Given the description of an element on the screen output the (x, y) to click on. 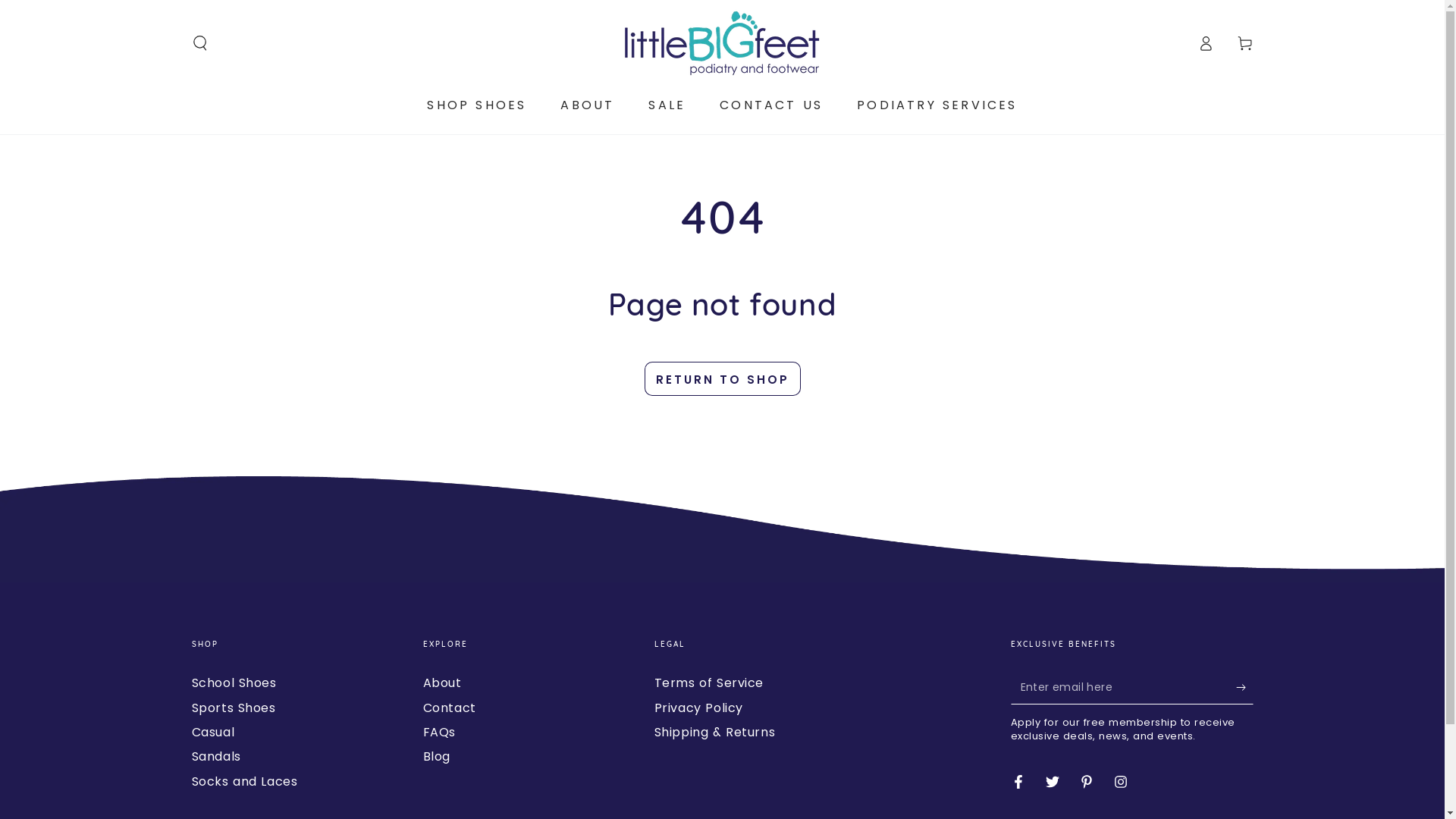
Sports Shoes Element type: text (233, 707)
Casual Element type: text (212, 731)
School Shoes Element type: text (233, 682)
CONTACT US Element type: text (771, 104)
FAQs Element type: text (439, 731)
Terms of Service Element type: text (708, 682)
About Element type: text (442, 682)
SHOP SHOES Element type: text (476, 104)
Sandals Element type: text (215, 756)
Contact Element type: text (449, 707)
SALE Element type: text (666, 104)
Blog Element type: text (436, 756)
ABOUT Element type: text (587, 104)
Privacy Policy Element type: text (697, 707)
Pinterest Element type: text (1086, 781)
RETURN TO SHOP Element type: text (722, 378)
PODIATRY SERVICES Element type: text (936, 104)
Socks and Laces Element type: text (244, 781)
Instagram Element type: text (1120, 781)
Log in Element type: text (1205, 42)
Shipping & Returns Element type: text (714, 731)
Twitter Element type: text (1052, 781)
Facebook Element type: text (1018, 781)
